Given the description of an element on the screen output the (x, y) to click on. 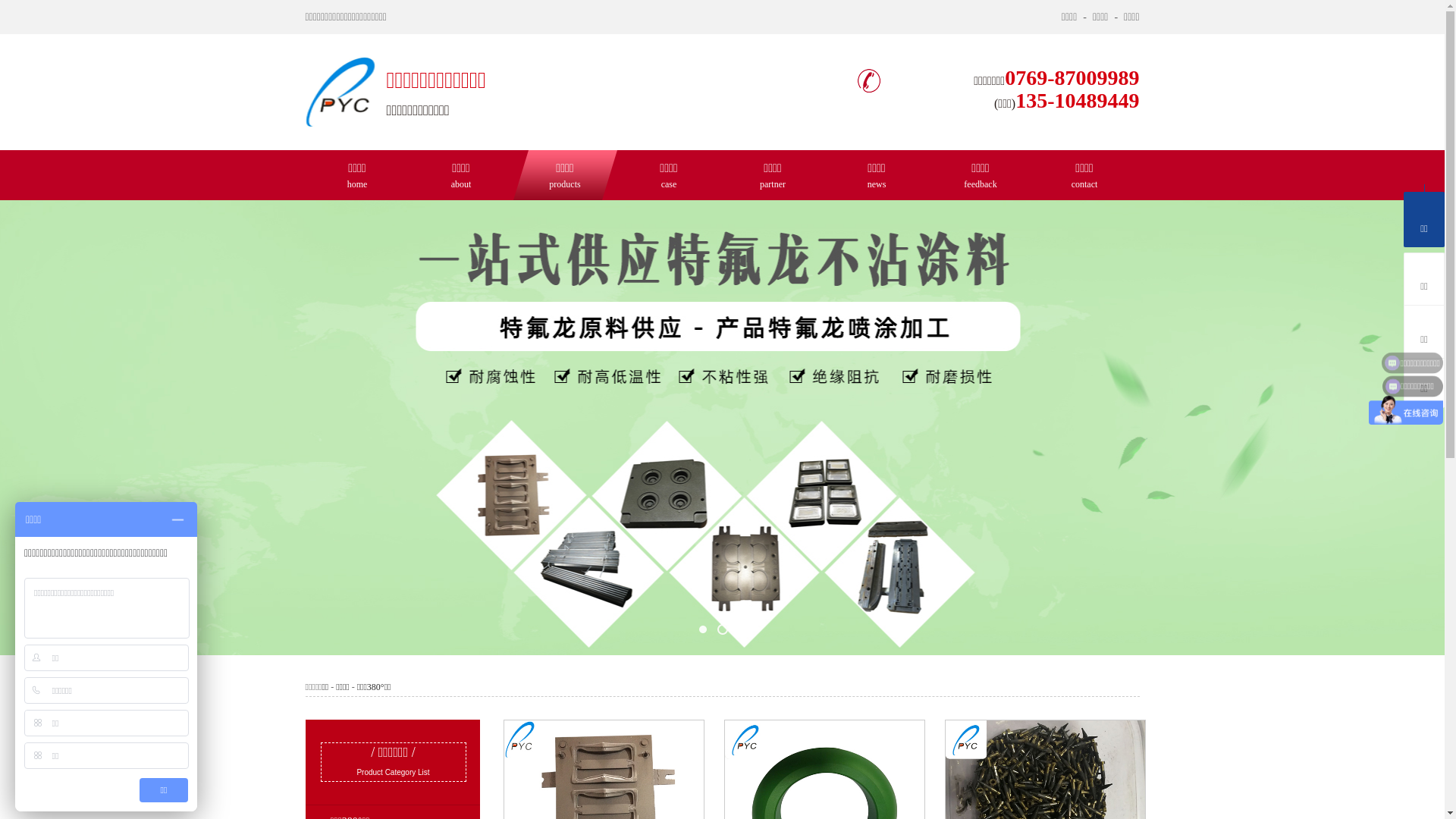
2 Element type: hover (722, 427)
